Given the description of an element on the screen output the (x, y) to click on. 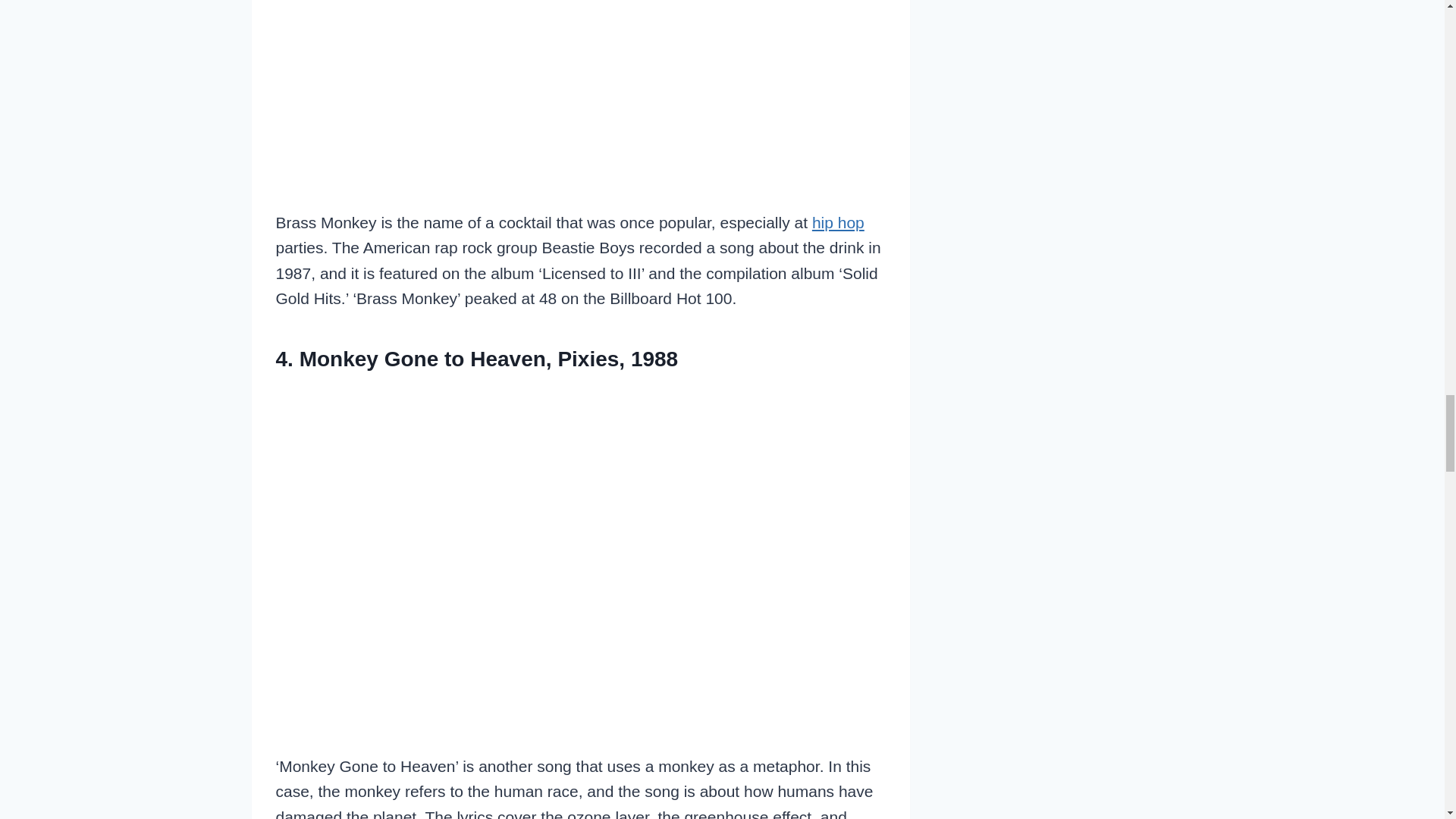
Beastie Boys Brass Monkey Music Video (581, 92)
hip hop (838, 221)
